Given the description of an element on the screen output the (x, y) to click on. 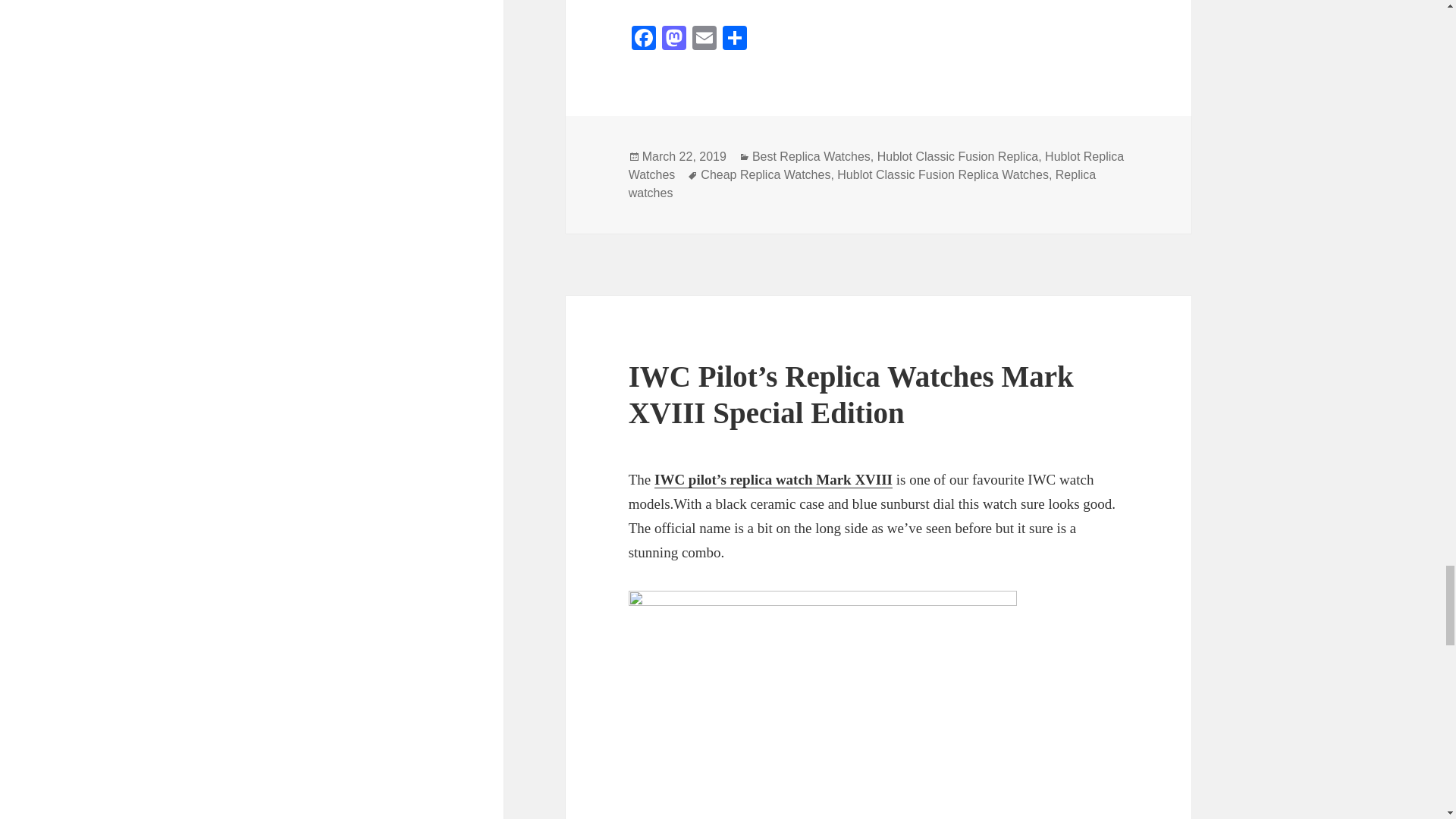
Mastodon (673, 39)
Facebook (643, 39)
Email (703, 39)
